Given the description of an element on the screen output the (x, y) to click on. 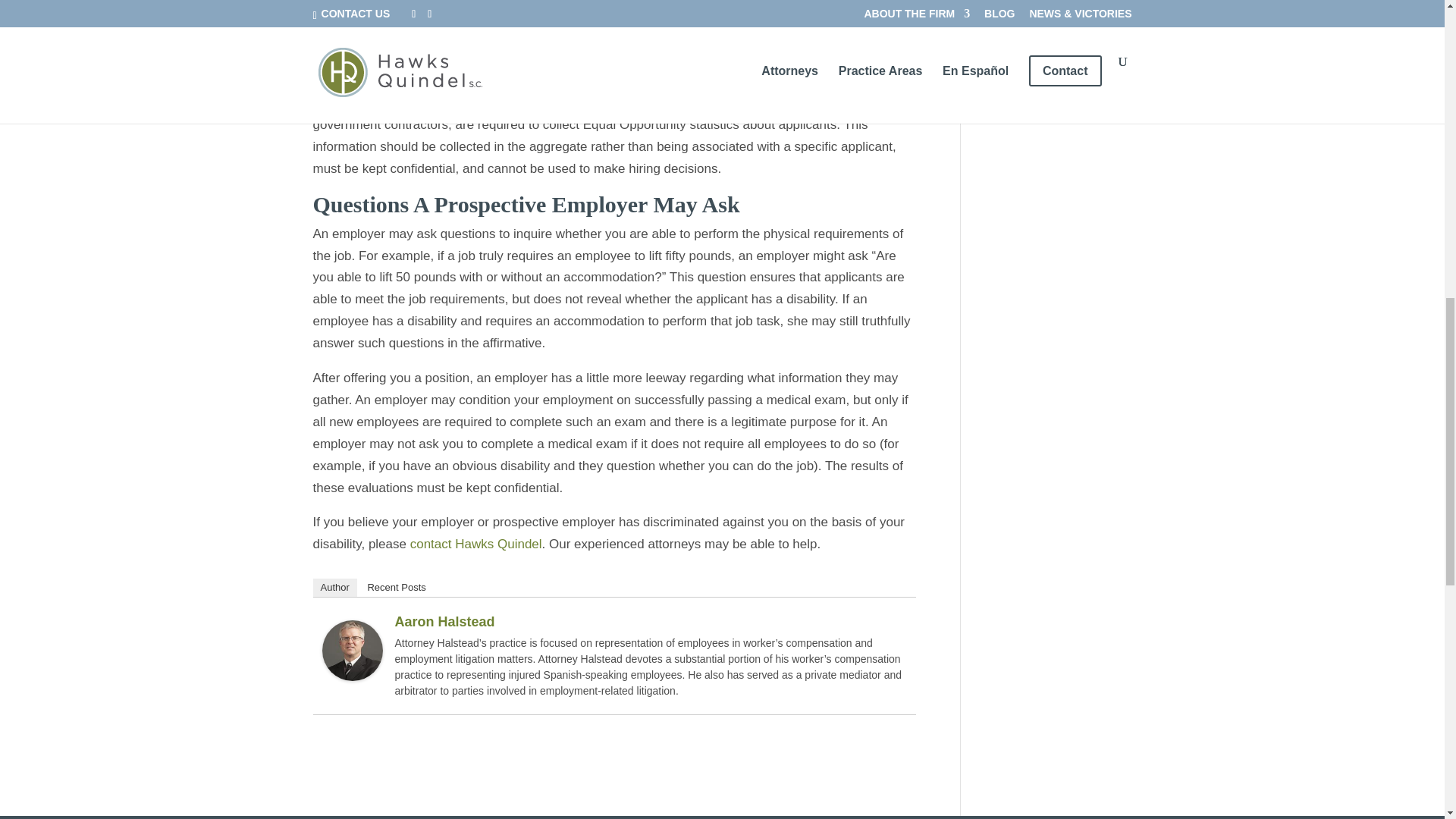
Aaron Halstead (351, 668)
